Given the description of an element on the screen output the (x, y) to click on. 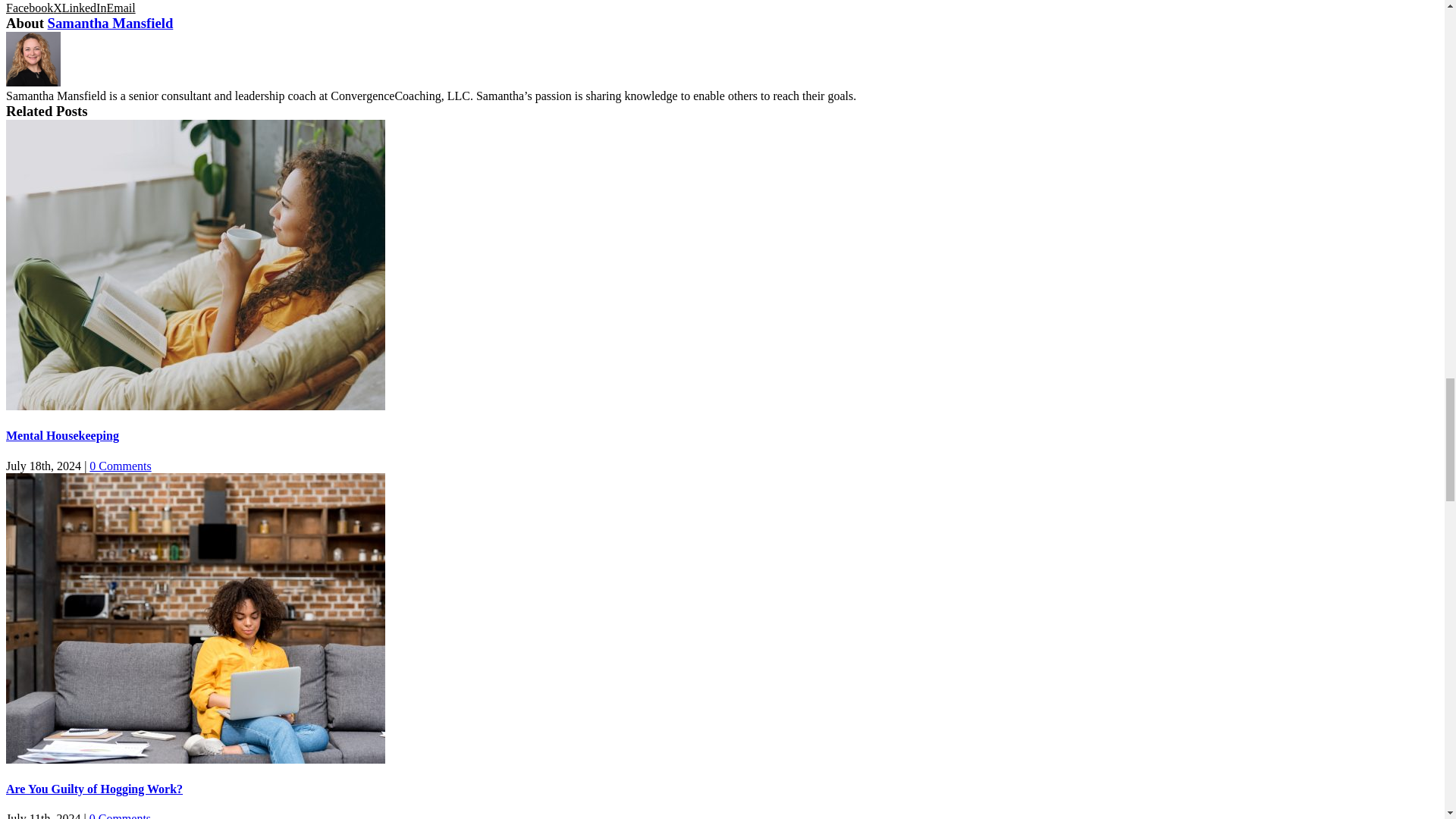
Facebook (28, 7)
Email (120, 7)
Posts by Samantha Mansfield (110, 23)
LinkedIn (84, 7)
